Given the description of an element on the screen output the (x, y) to click on. 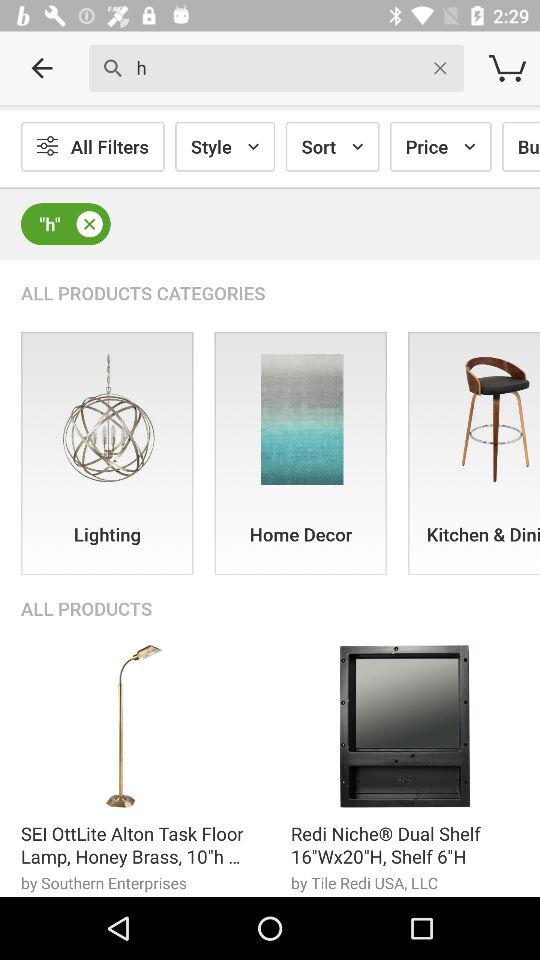
go back (41, 67)
